Given the description of an element on the screen output the (x, y) to click on. 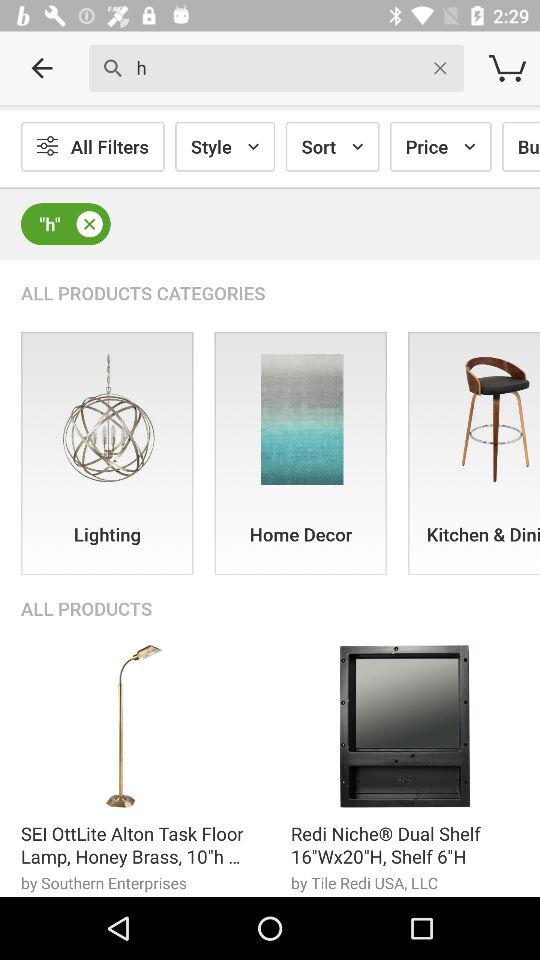
go back (41, 67)
